Given the description of an element on the screen output the (x, y) to click on. 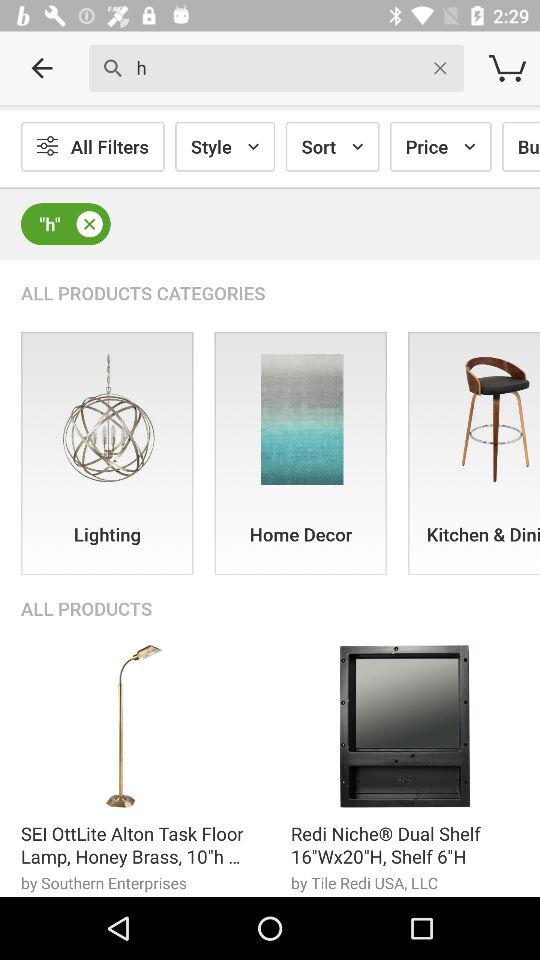
go back (41, 67)
